Given the description of an element on the screen output the (x, y) to click on. 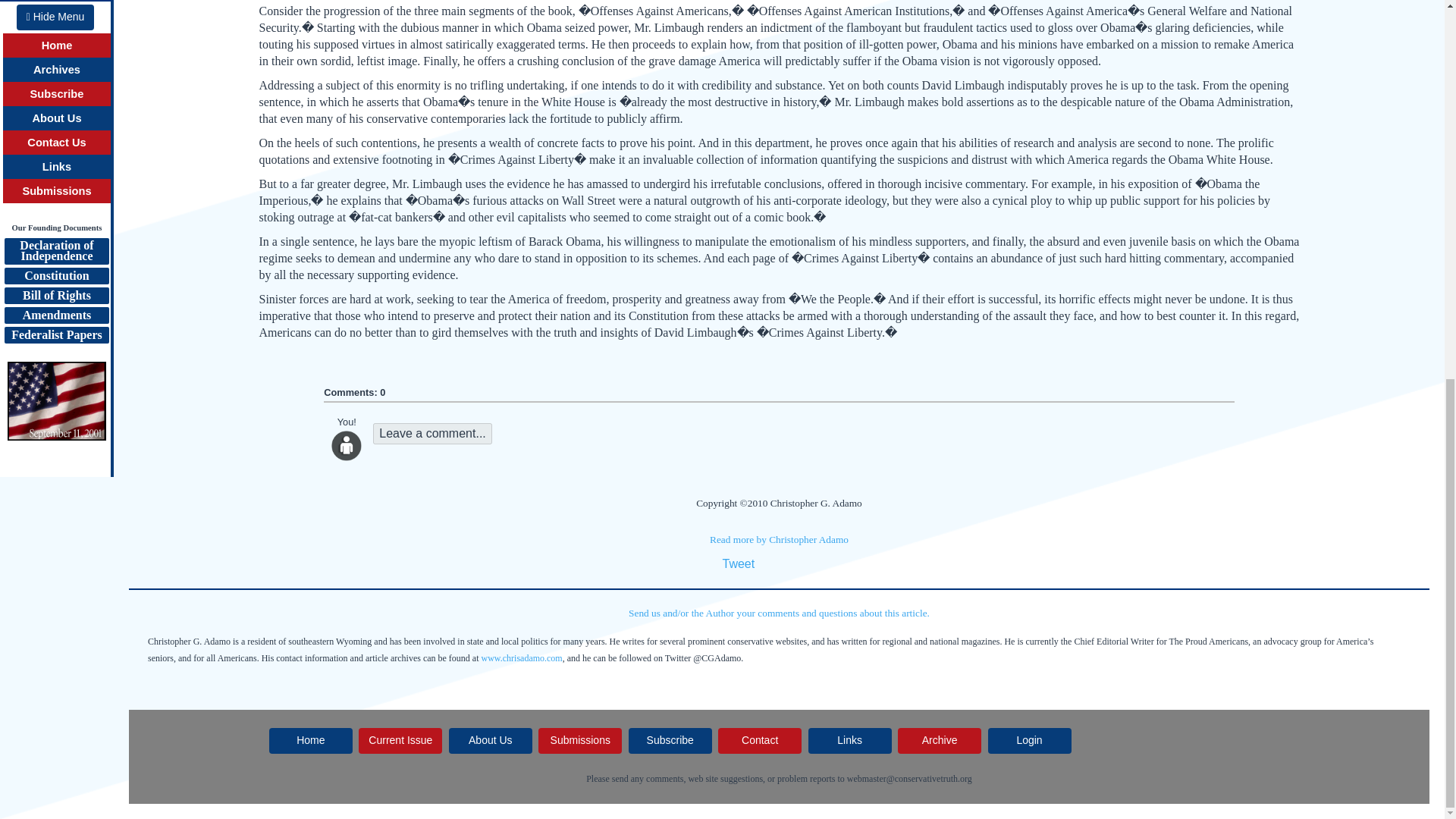
Submissions (579, 740)
Archive (939, 740)
Tweet (738, 563)
Subscribe (669, 740)
About Us (490, 740)
Current Issue (400, 740)
Login (1029, 740)
Leave a comment... (432, 433)
www.chrisadamo.com (521, 657)
Links (849, 740)
Read more by Christopher Adamo (779, 539)
Home (310, 740)
Contact (759, 740)
